Given the description of an element on the screen output the (x, y) to click on. 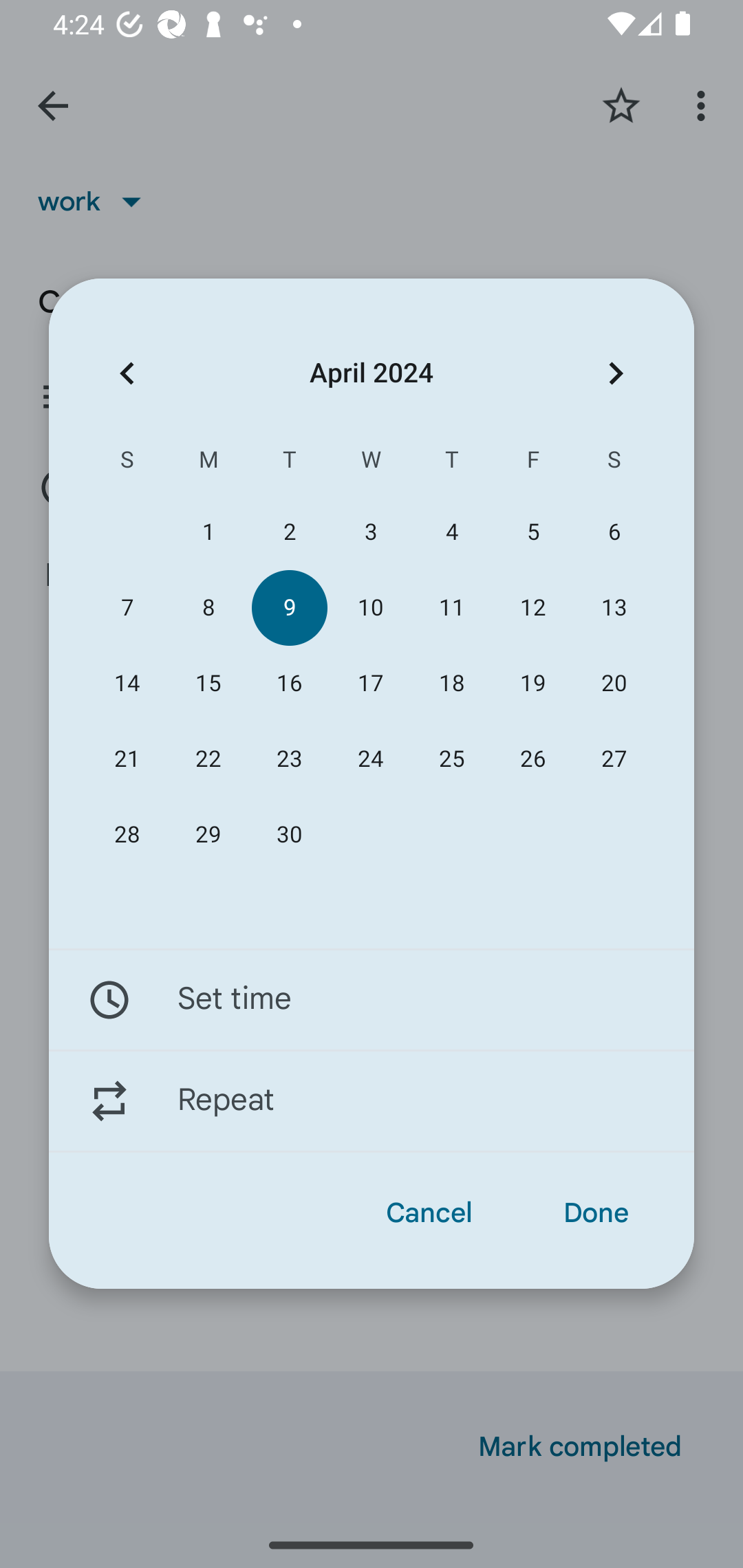
Previous month (126, 372)
Next month (615, 372)
1 01 April 2024 (207, 531)
2 02 April 2024 (288, 531)
3 03 April 2024 (370, 531)
4 04 April 2024 (451, 531)
5 05 April 2024 (532, 531)
6 06 April 2024 (613, 531)
7 07 April 2024 (126, 608)
8 08 April 2024 (207, 608)
9 09 April 2024 (288, 608)
10 10 April 2024 (370, 608)
11 11 April 2024 (451, 608)
12 12 April 2024 (532, 608)
13 13 April 2024 (613, 608)
14 14 April 2024 (126, 683)
15 15 April 2024 (207, 683)
16 16 April 2024 (288, 683)
17 17 April 2024 (370, 683)
18 18 April 2024 (451, 683)
19 19 April 2024 (532, 683)
20 20 April 2024 (613, 683)
21 21 April 2024 (126, 758)
22 22 April 2024 (207, 758)
23 23 April 2024 (288, 758)
24 24 April 2024 (370, 758)
25 25 April 2024 (451, 758)
26 26 April 2024 (532, 758)
27 27 April 2024 (613, 758)
28 28 April 2024 (126, 834)
29 29 April 2024 (207, 834)
30 30 April 2024 (288, 834)
Set time (371, 999)
Repeat (371, 1101)
Cancel (429, 1213)
Done (595, 1213)
